Given the description of an element on the screen output the (x, y) to click on. 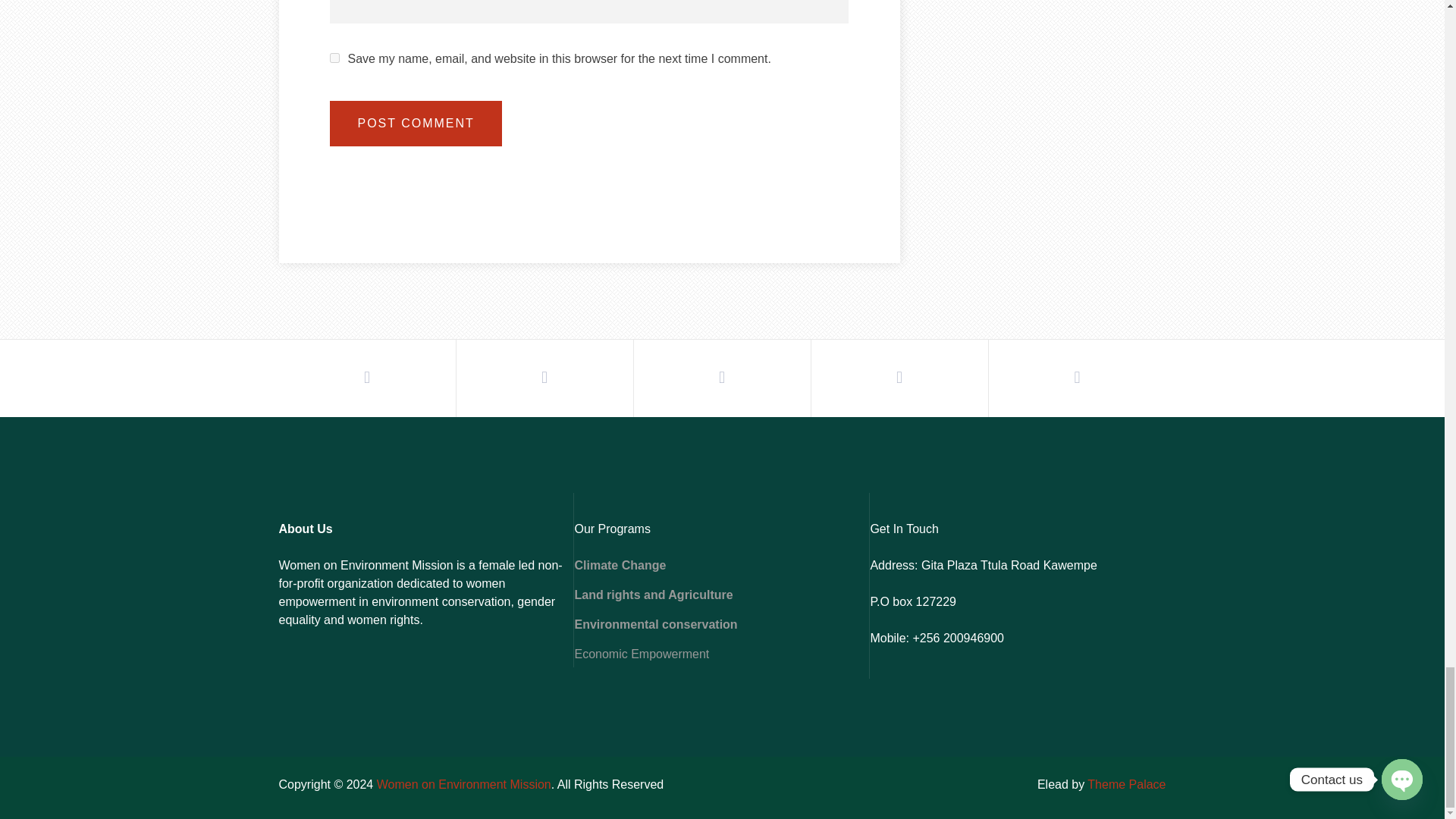
Post Comment (415, 123)
yes (334, 58)
